Given the description of an element on the screen output the (x, y) to click on. 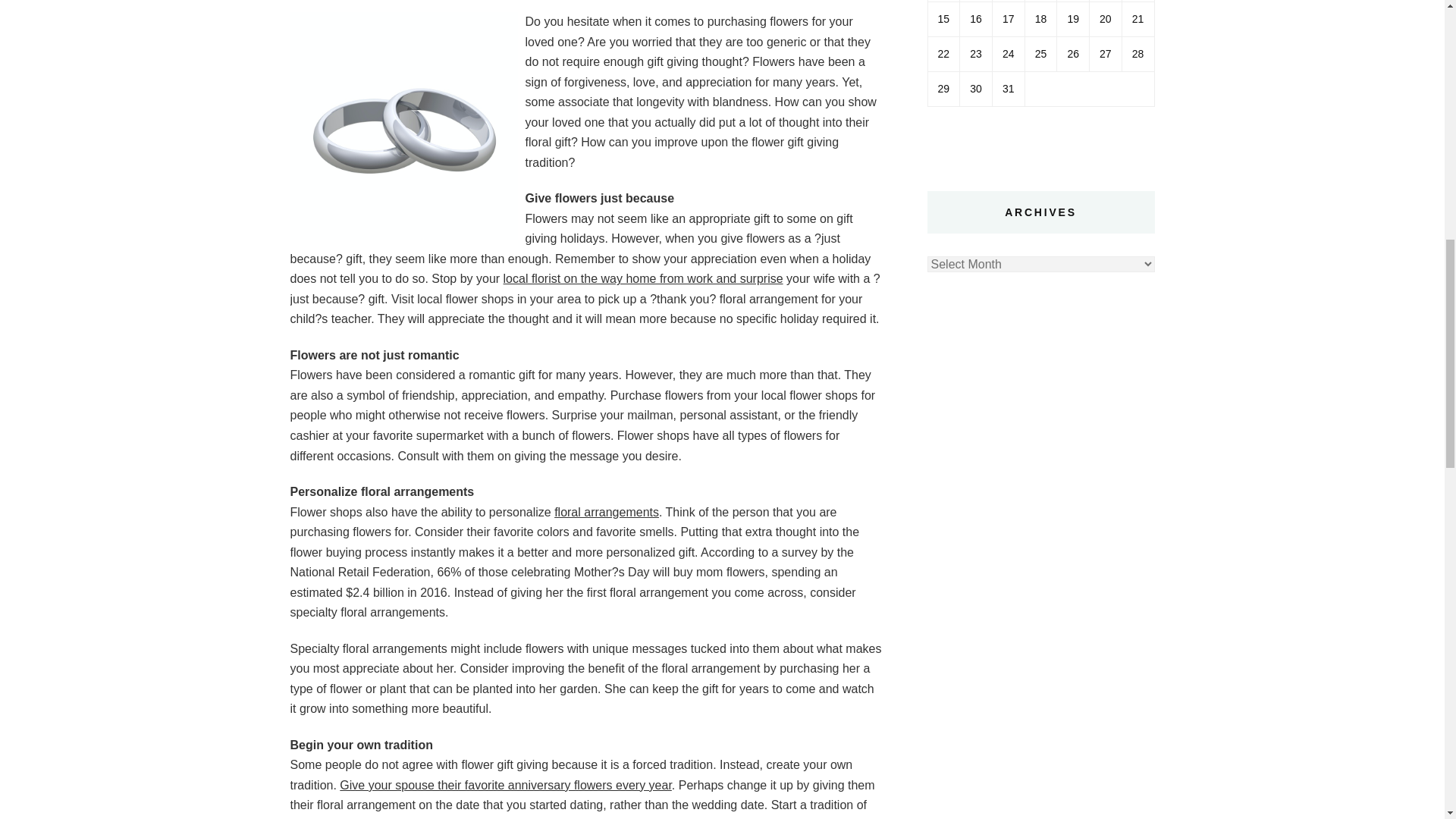
floral arrangements (606, 512)
local florist on the way home from work and surprise (643, 278)
Florists charlotte nc (643, 278)
Cool things (606, 512)
Graduation flowers, Florist charlotte (505, 784)
